Given the description of an element on the screen output the (x, y) to click on. 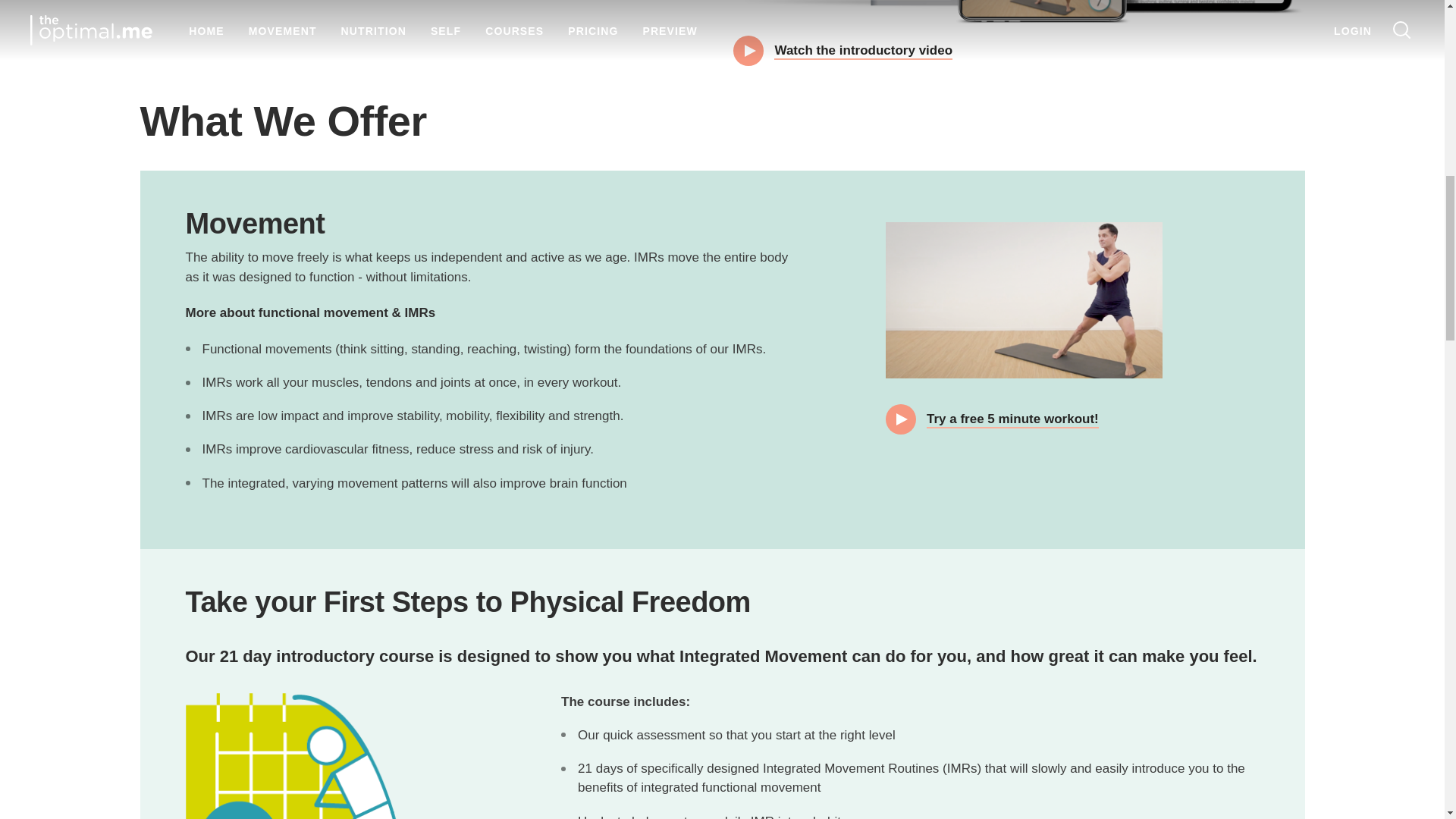
Try a free 5 minute workout! (992, 419)
Try a free 5 minute workout! (992, 419)
Watch the introductory video (842, 50)
Try a free 5 minute workout! (1023, 299)
